Given the description of an element on the screen output the (x, y) to click on. 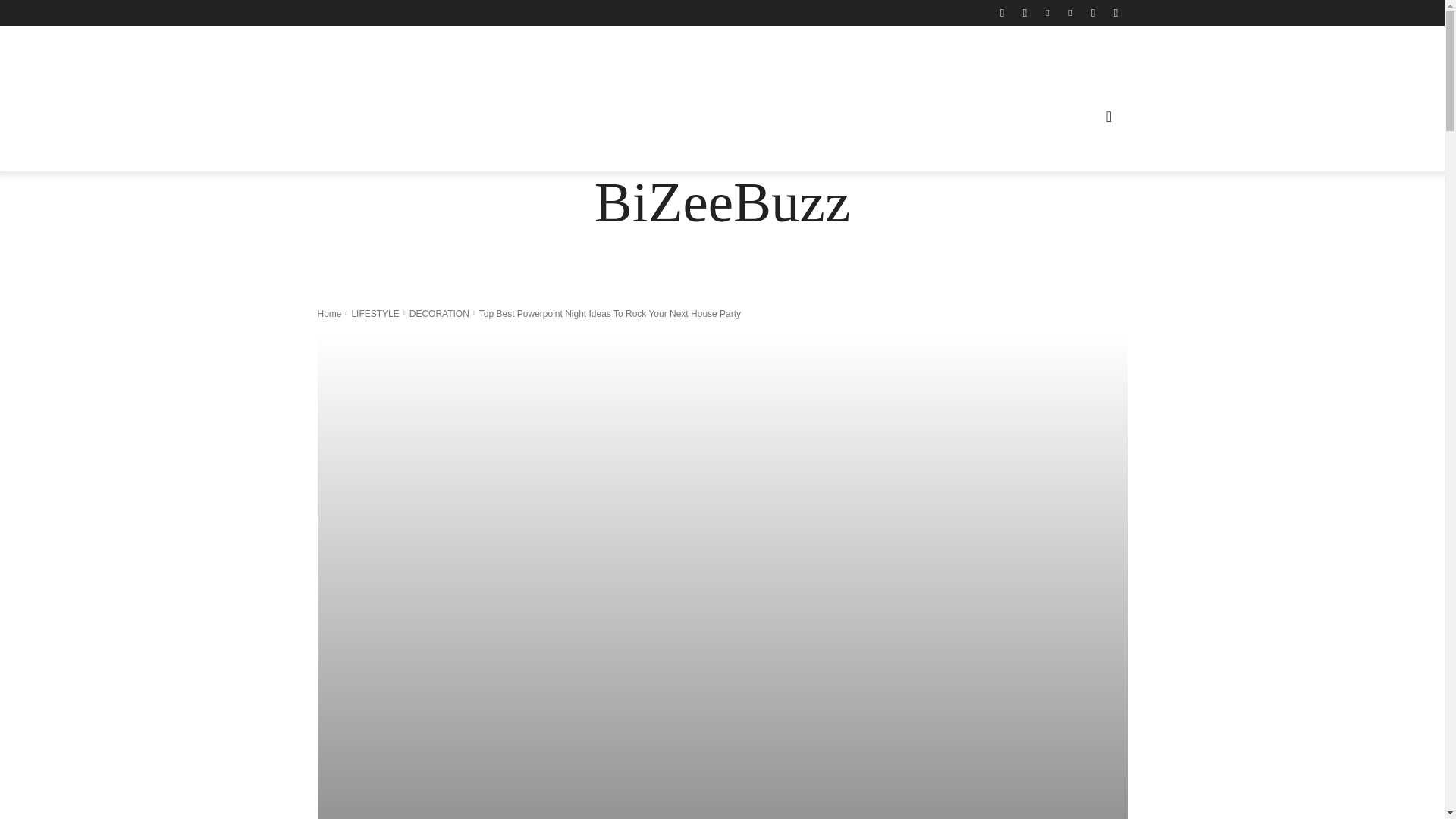
Pinterest (1069, 12)
Linkedin (1046, 12)
Facebook (1001, 12)
Tumblr (1092, 12)
Instagram (1024, 12)
